Given the description of an element on the screen output the (x, y) to click on. 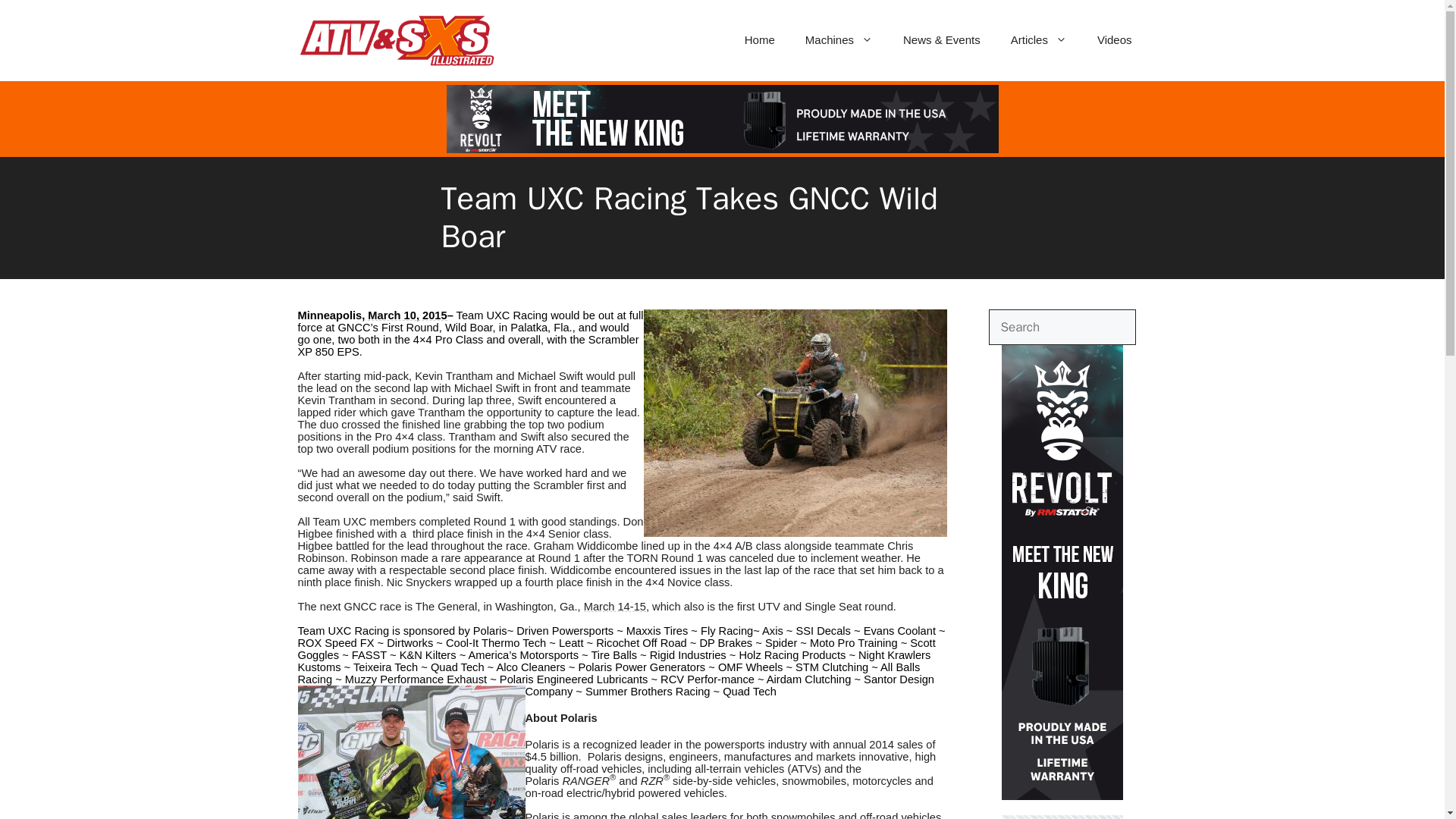
Videos (1114, 40)
Articles (1038, 40)
Home (759, 40)
Machines (839, 40)
